Given the description of an element on the screen output the (x, y) to click on. 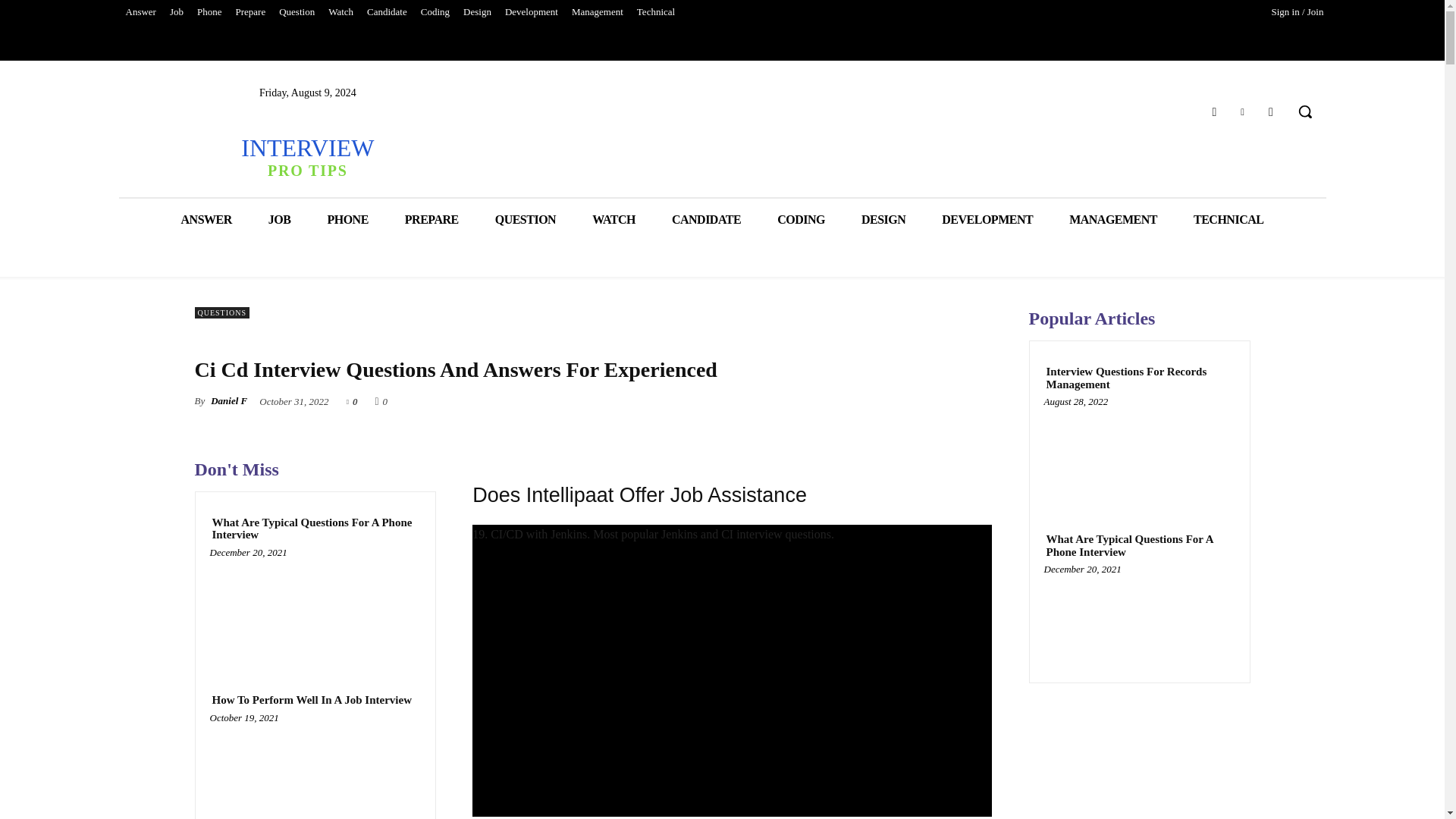
Development (530, 12)
Design (477, 12)
Phone (209, 12)
Job (306, 156)
Question (176, 12)
Youtube (296, 12)
Twitter (1270, 111)
Technical (1241, 111)
Management (655, 12)
